Given the description of an element on the screen output the (x, y) to click on. 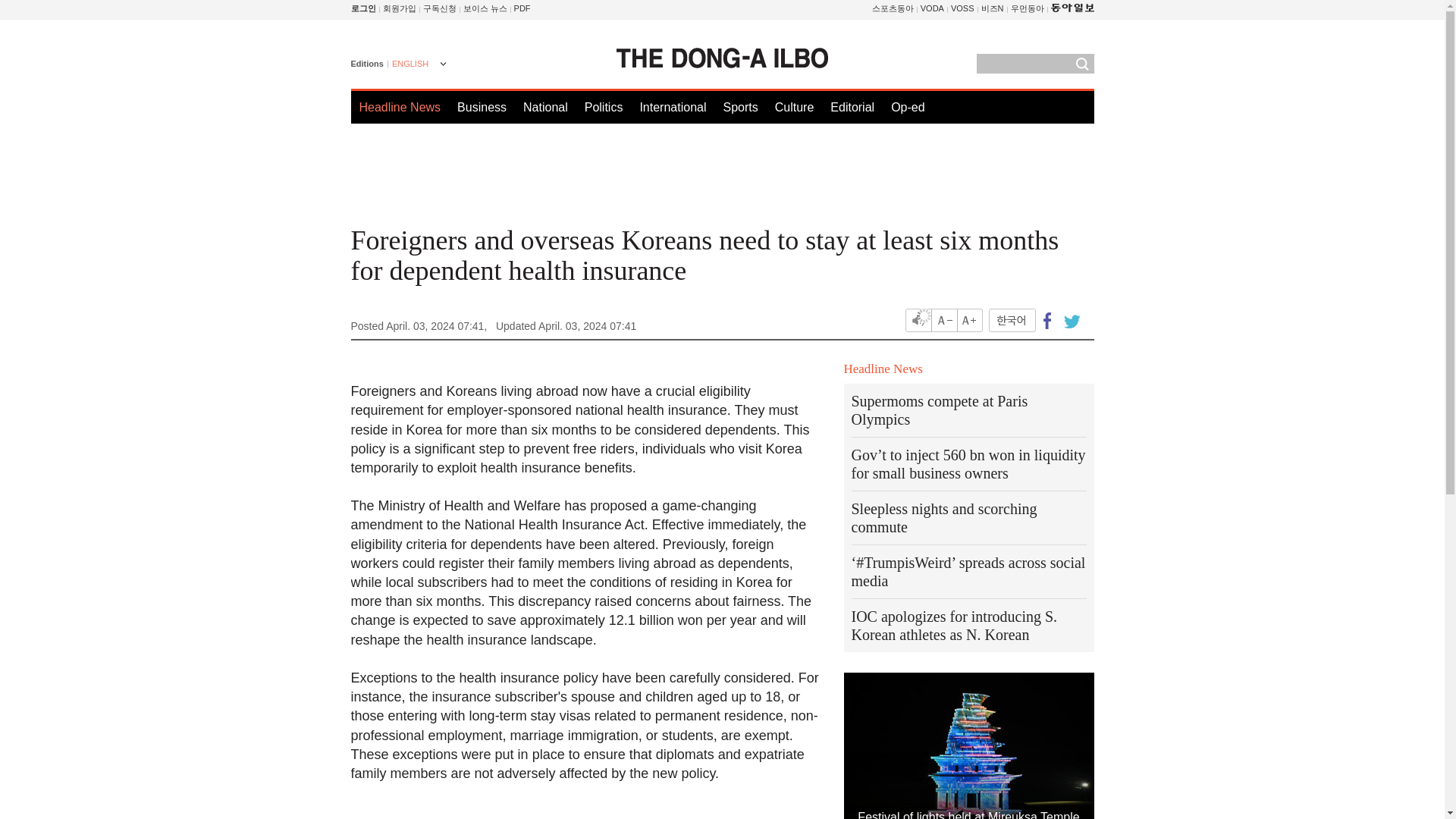
SPORTS (893, 8)
Op-ed (907, 106)
PDF (522, 8)
WOMAN (1026, 8)
BIZN (992, 8)
VOSS (962, 8)
International (672, 106)
Sports (739, 106)
VODA (931, 8)
VOICE (484, 8)
PDF (522, 8)
Font size up (969, 320)
Headline News (400, 106)
Politics (604, 106)
Share this article on Facebook (1047, 320)
